Given the description of an element on the screen output the (x, y) to click on. 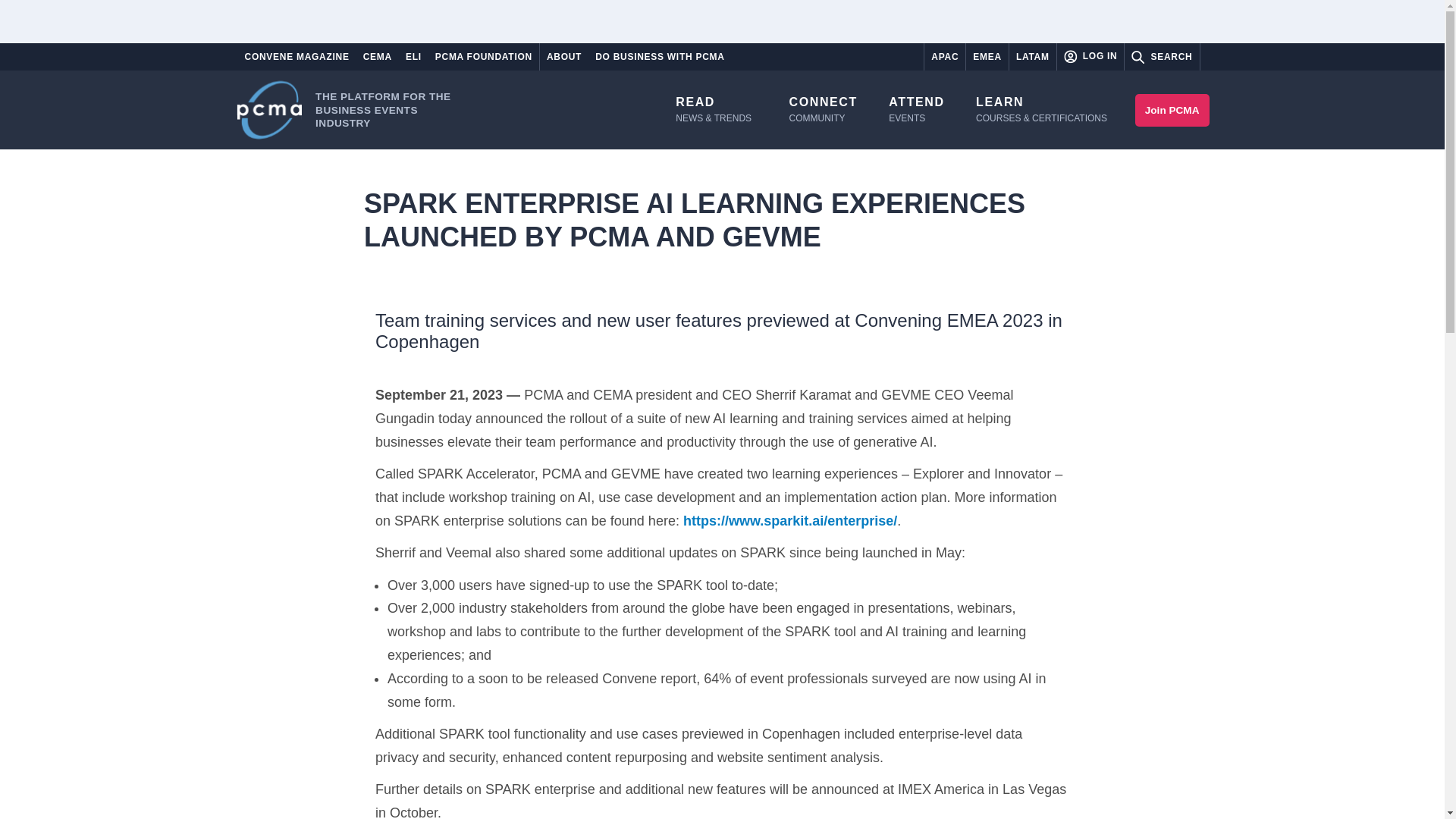
ABOUT (564, 56)
LOG IN (1090, 56)
PCMA Foundation (483, 56)
APAC (944, 56)
CEMA (377, 56)
SEARCH (1161, 57)
THE PLATFORM FOR THE BUSINESS EVENTS INDUSTRY (354, 109)
EMEA (987, 56)
Event Leadership Institute (823, 109)
